Given the description of an element on the screen output the (x, y) to click on. 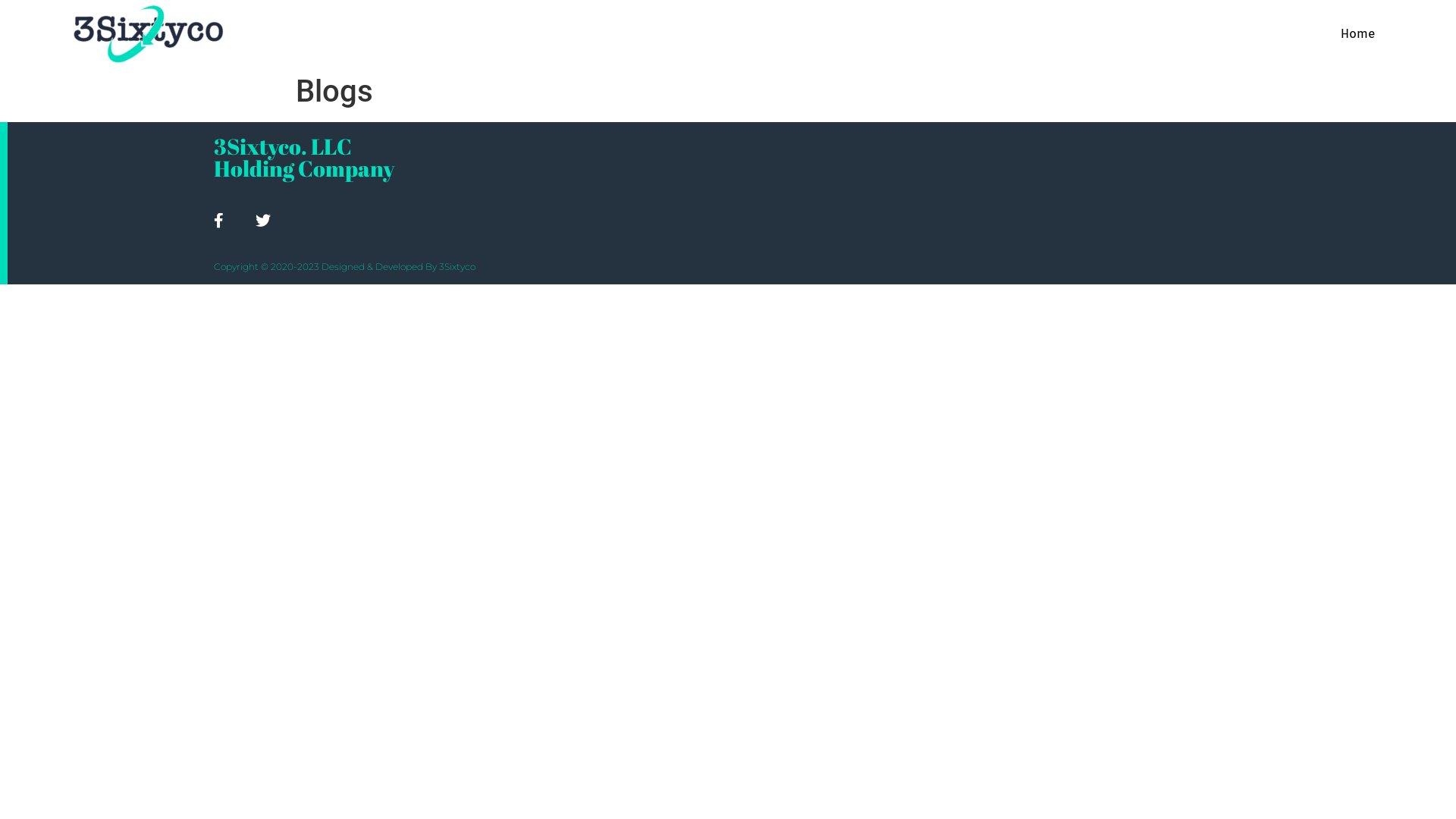
Home Element type: text (1357, 33)
